Given the description of an element on the screen output the (x, y) to click on. 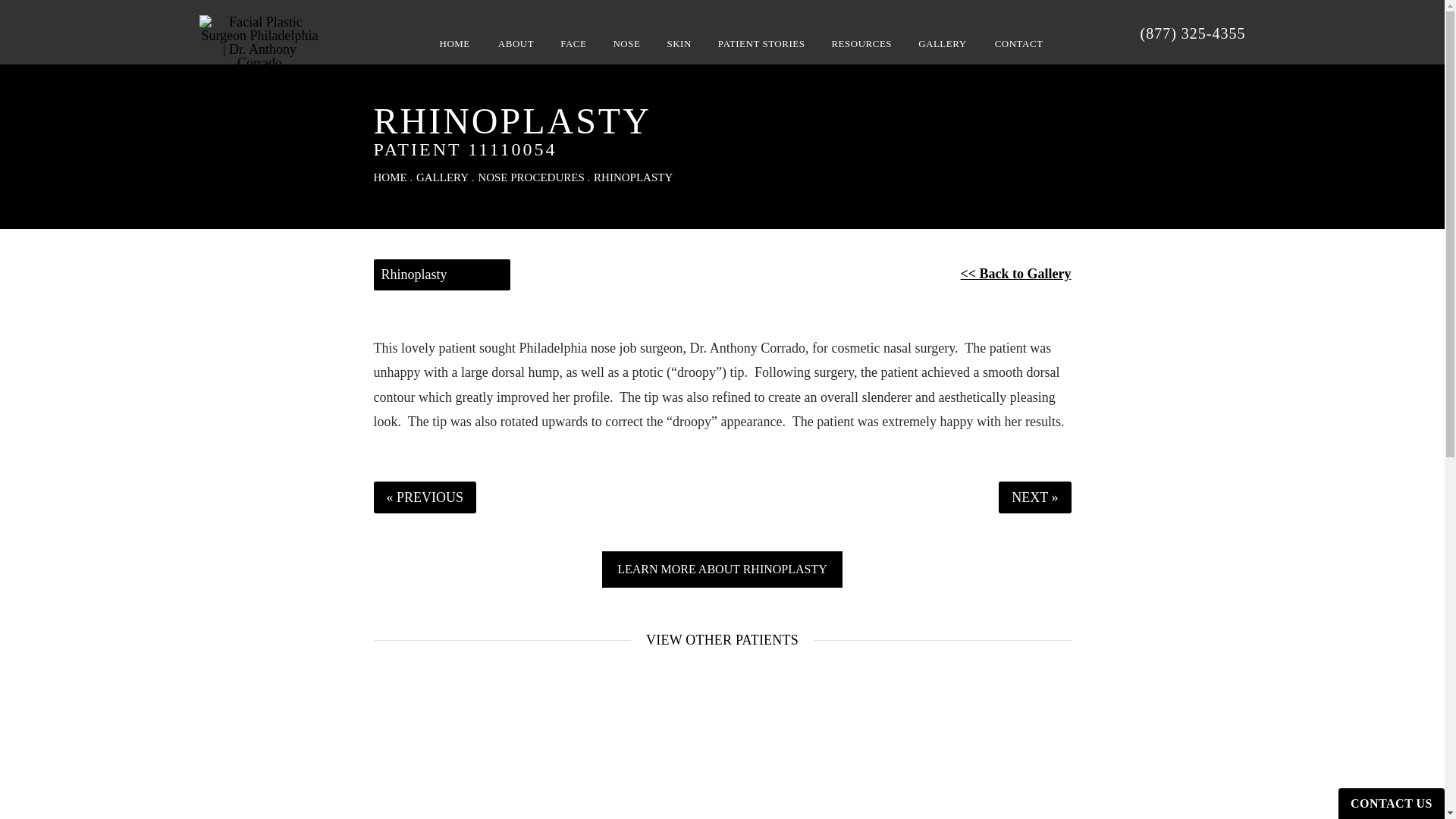
SKIN (678, 43)
FACE (573, 43)
ABOUT (515, 43)
NOSE (626, 43)
HOME (454, 43)
